Given the description of an element on the screen output the (x, y) to click on. 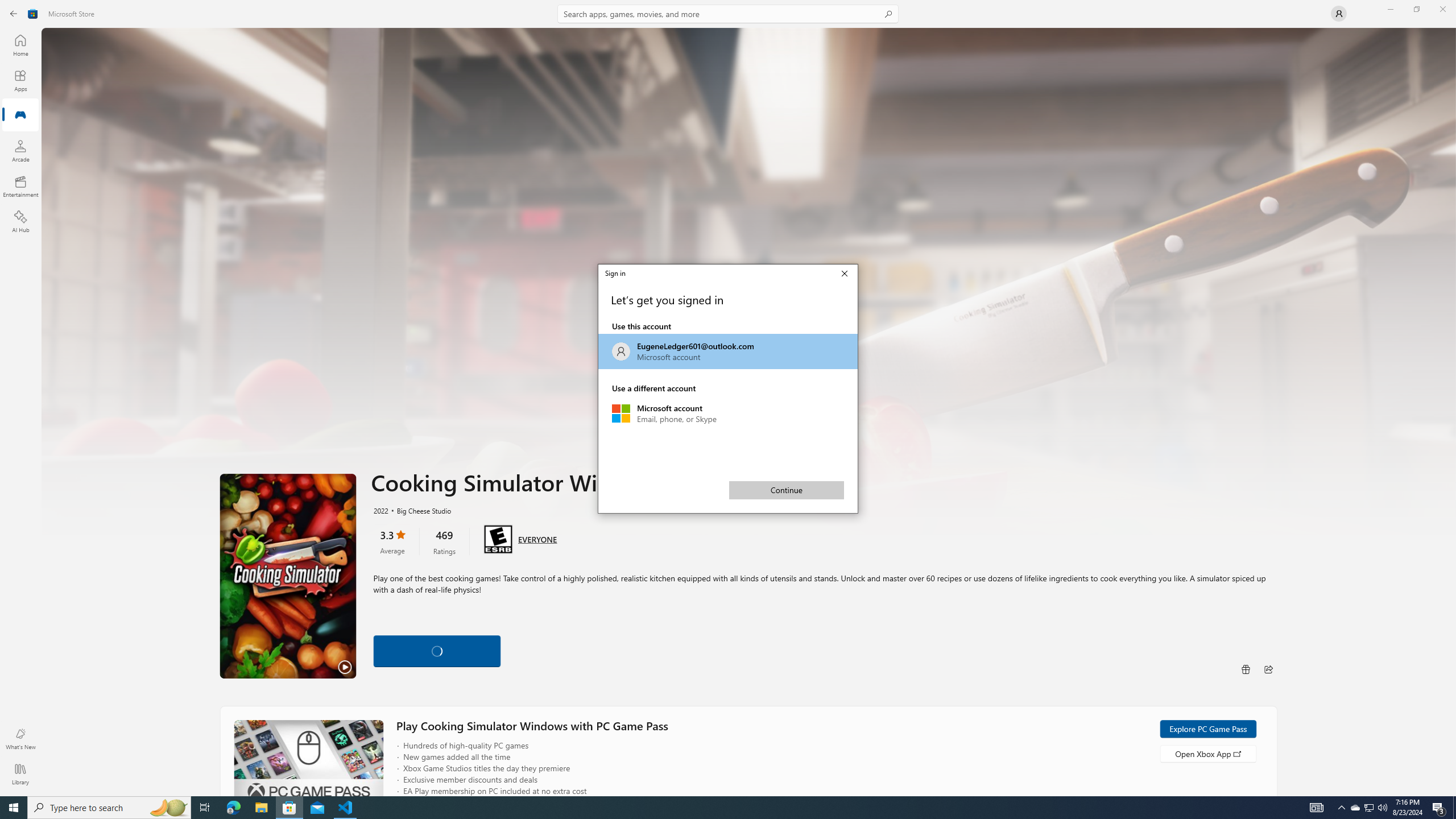
Back (13, 13)
Q2790: 100% (1382, 807)
AutomationID: LottiePlayer (436, 650)
